Given the description of an element on the screen output the (x, y) to click on. 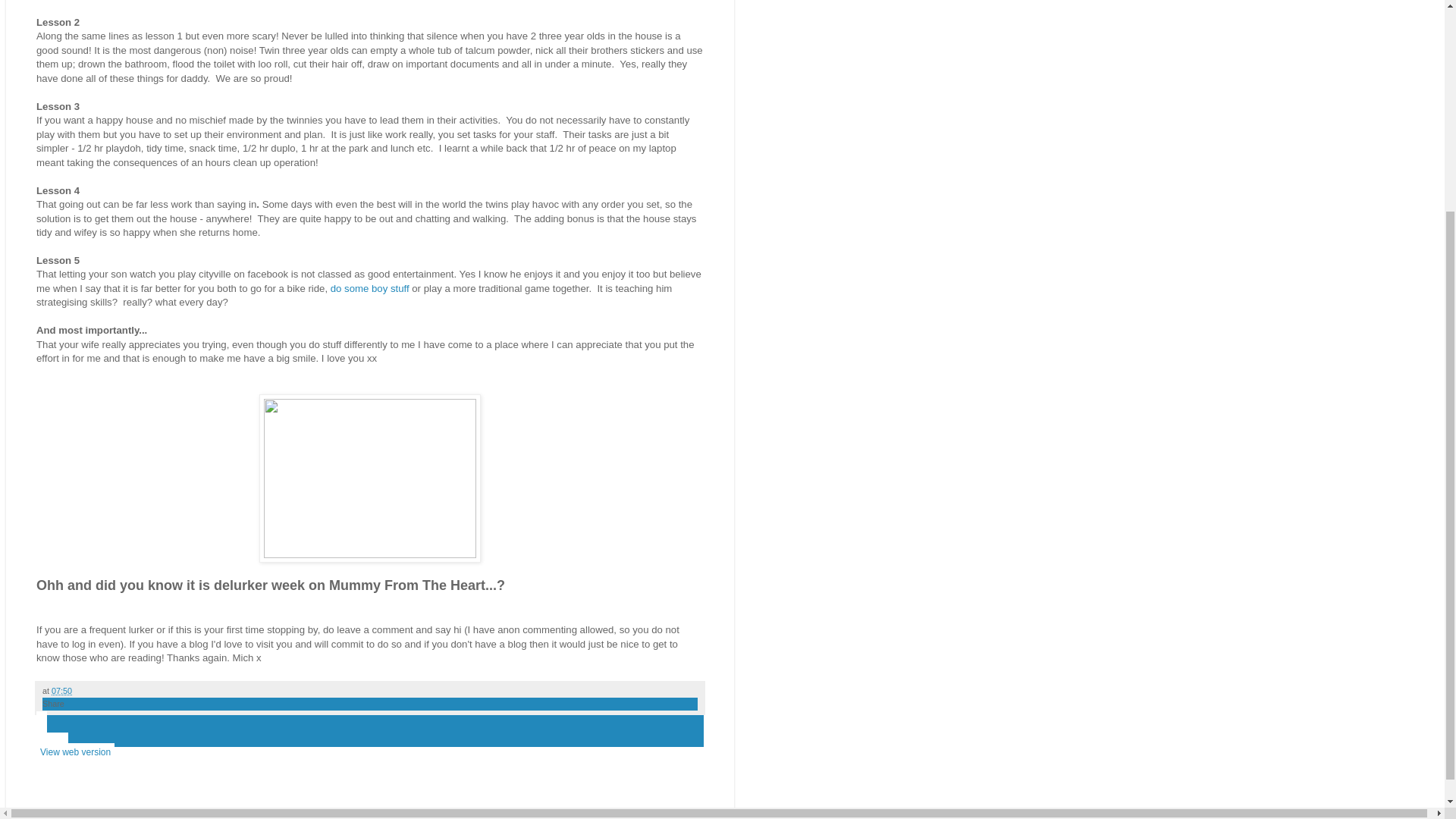
permanent link (60, 690)
Blogger (393, 811)
do some boy stuff (369, 288)
07:50 (60, 690)
Older Post (41, 730)
Newer Post (41, 720)
Share (53, 703)
View web version (75, 751)
Home (52, 741)
